Given the description of an element on the screen output the (x, y) to click on. 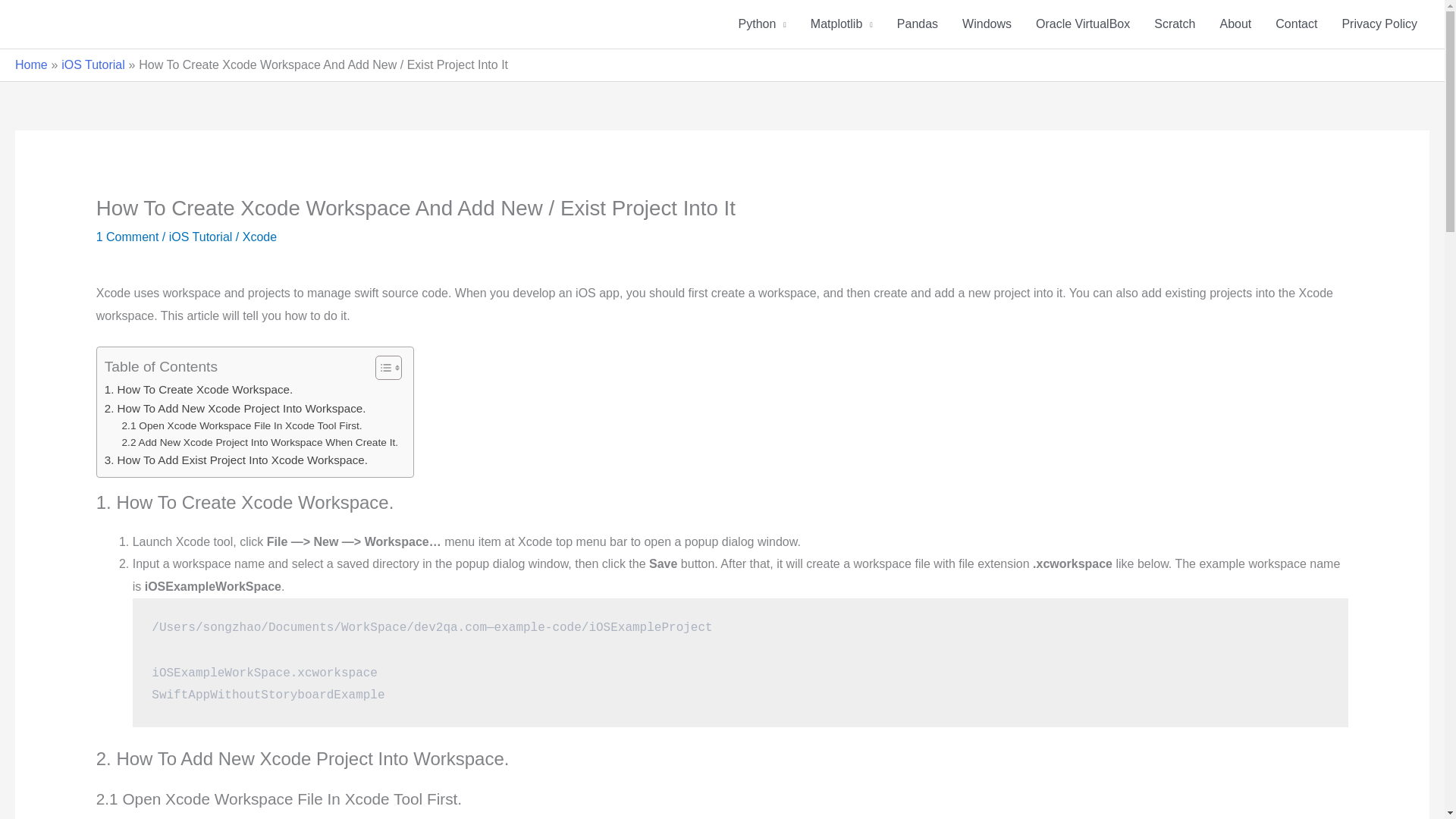
Contact (1296, 24)
1. How To Create Xcode Workspace. (198, 389)
1 Comment (127, 236)
Pandas (917, 24)
About (1235, 24)
Scratch (1174, 24)
Xcode (259, 236)
iOS Tutorial (200, 236)
2.2 Add New Xcode Project Into Workspace When Create It. (260, 442)
3. How To Add Exist Project Into Xcode Workspace. (236, 460)
